Given the description of an element on the screen output the (x, y) to click on. 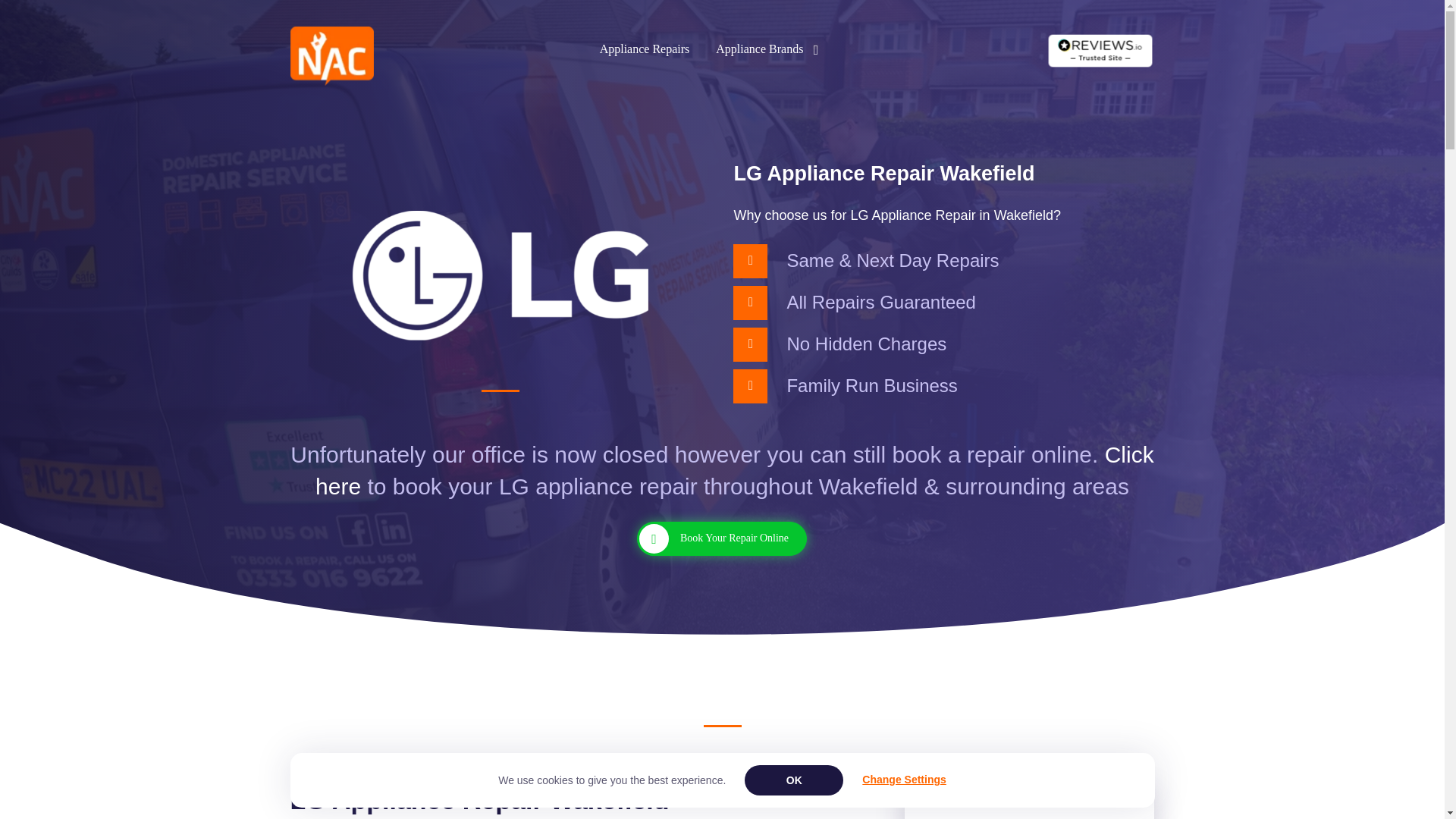
Appliance Repairs (644, 49)
Appliance Brands (767, 49)
